Given the description of an element on the screen output the (x, y) to click on. 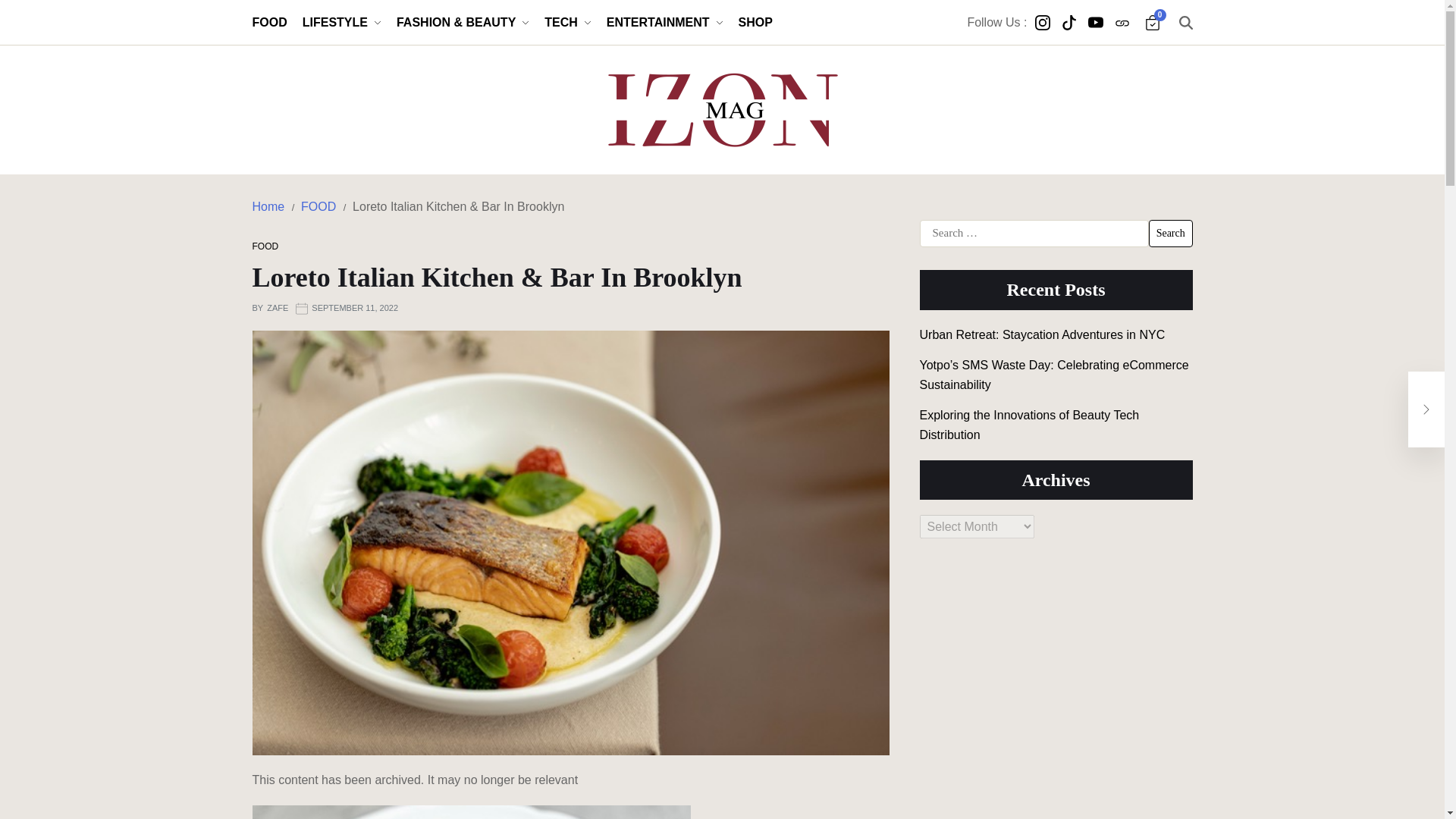
Home (267, 205)
Search (1170, 233)
ENTERTAINMENT (665, 22)
Search (1170, 233)
ZAFE (277, 308)
FOOD (264, 246)
TECH (567, 22)
FOOD (318, 205)
LIFESTYLE (341, 22)
0 (1152, 22)
